Given the description of an element on the screen output the (x, y) to click on. 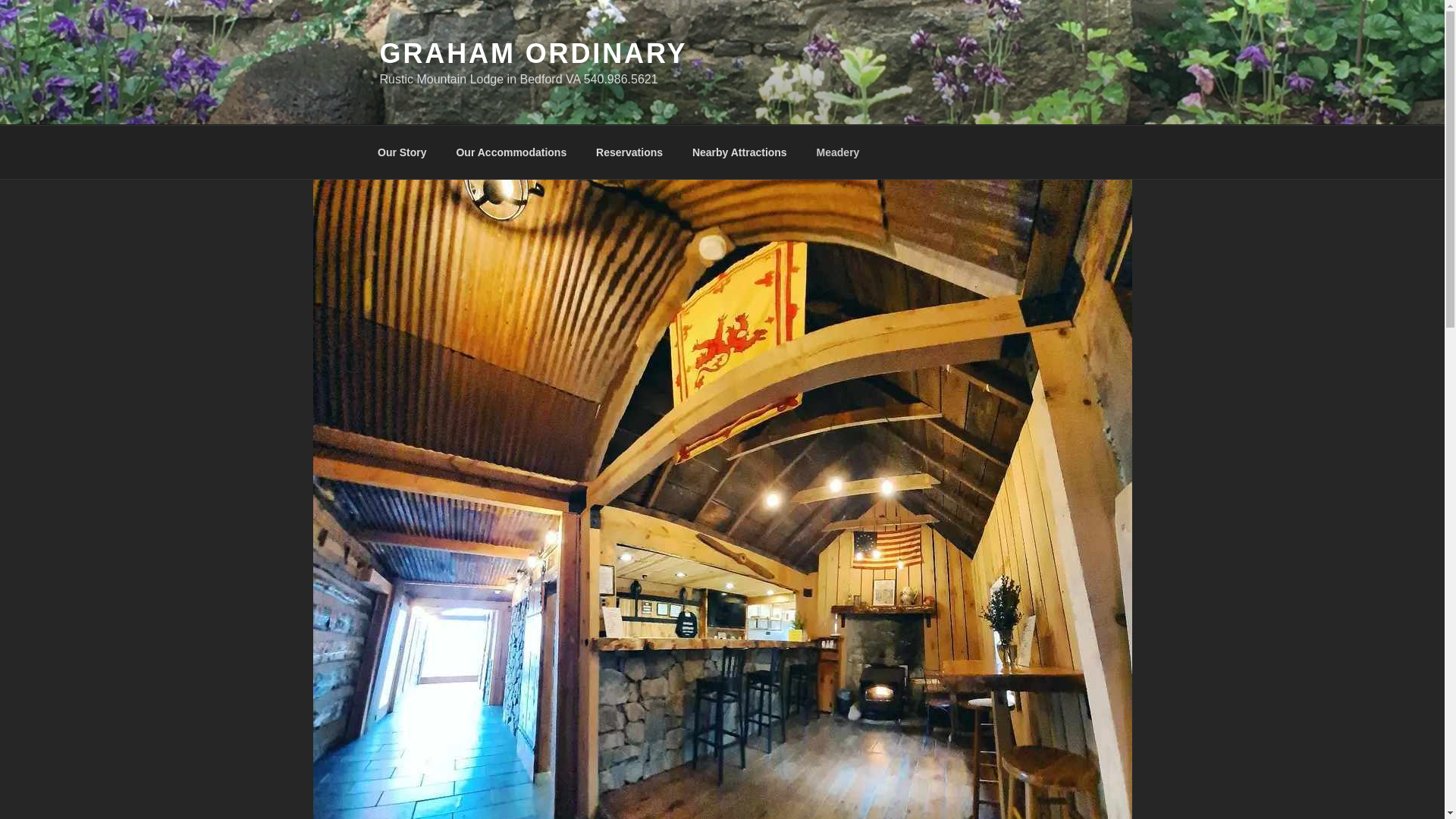
Reservations (630, 151)
Meadery (837, 151)
Our Accommodations (510, 151)
Nearby Attractions (738, 151)
GRAHAM ORDINARY (532, 52)
Our Story (401, 151)
